Given the description of an element on the screen output the (x, y) to click on. 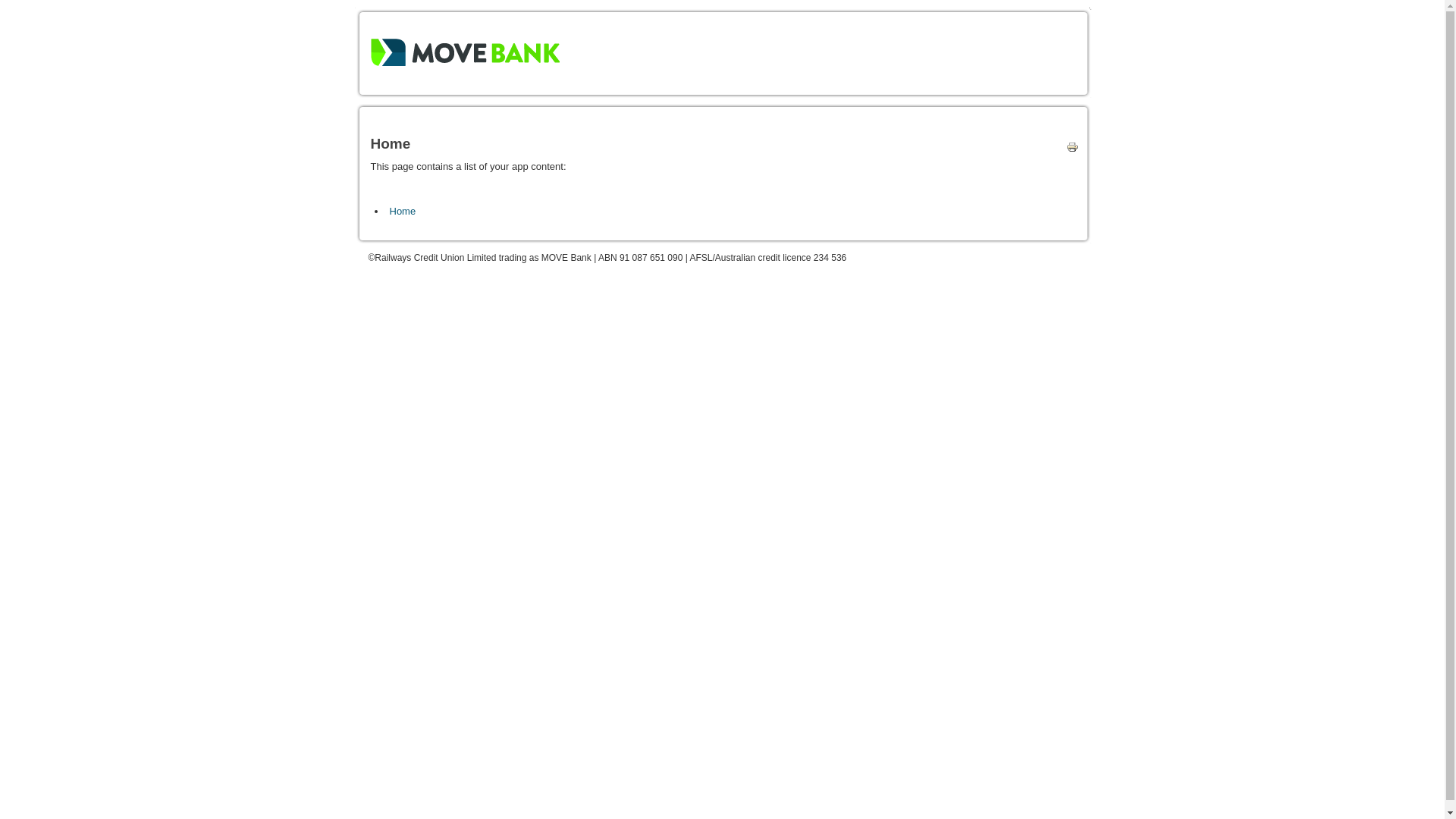
Home Element type: text (402, 210)
Print Element type: hover (1068, 149)
